Given the description of an element on the screen output the (x, y) to click on. 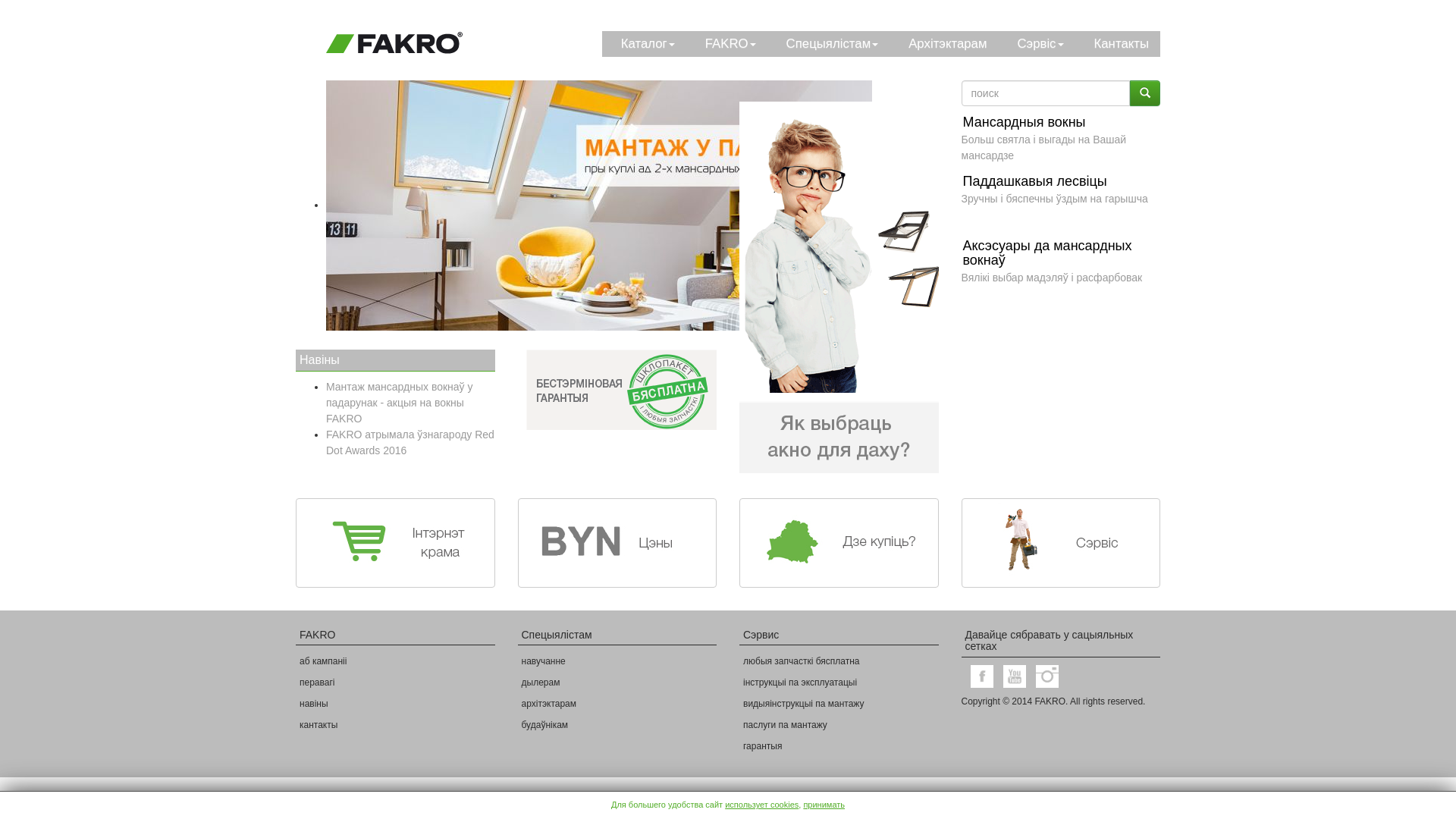
FAKRO Element type: text (726, 43)
